Given the description of an element on the screen output the (x, y) to click on. 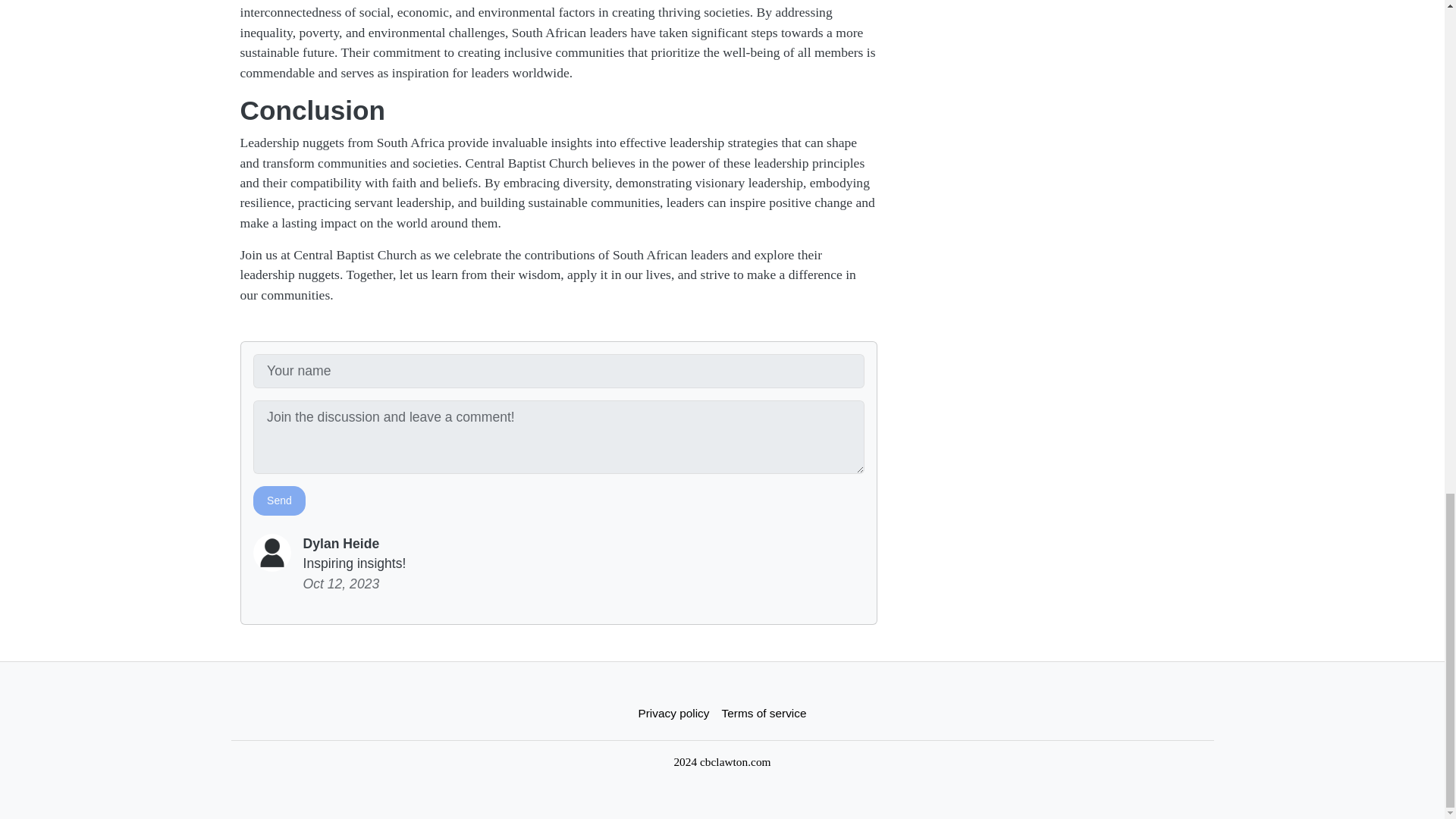
Privacy policy (672, 713)
Send (279, 500)
Terms of service (764, 713)
Send (279, 500)
